Given the description of an element on the screen output the (x, y) to click on. 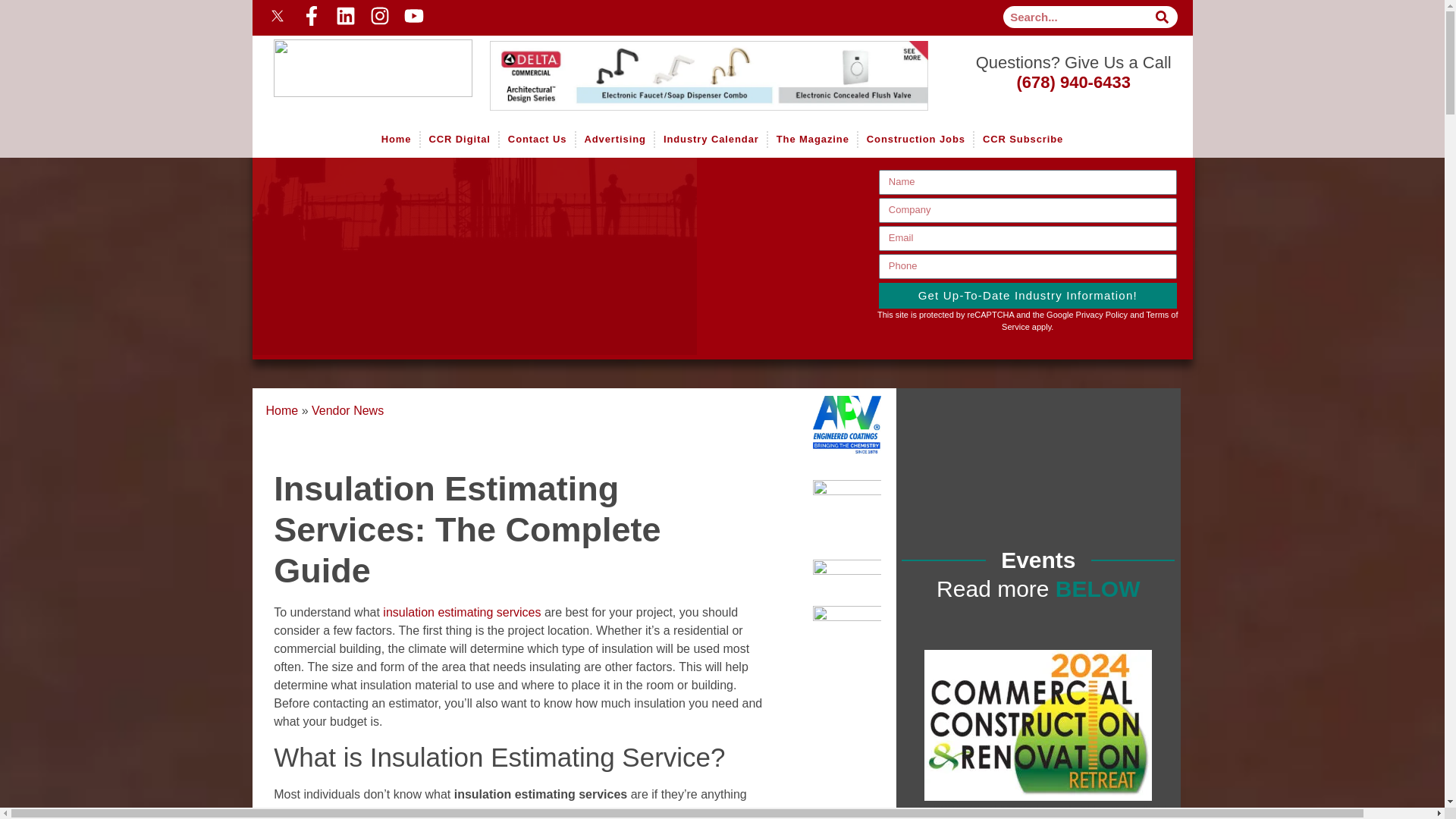
Home (350, 58)
Sponsors (718, 76)
Industry Calendar (710, 138)
Social Media (486, 15)
Contact Us (537, 138)
CCR Digital (459, 138)
Advertising (614, 138)
